Given the description of an element on the screen output the (x, y) to click on. 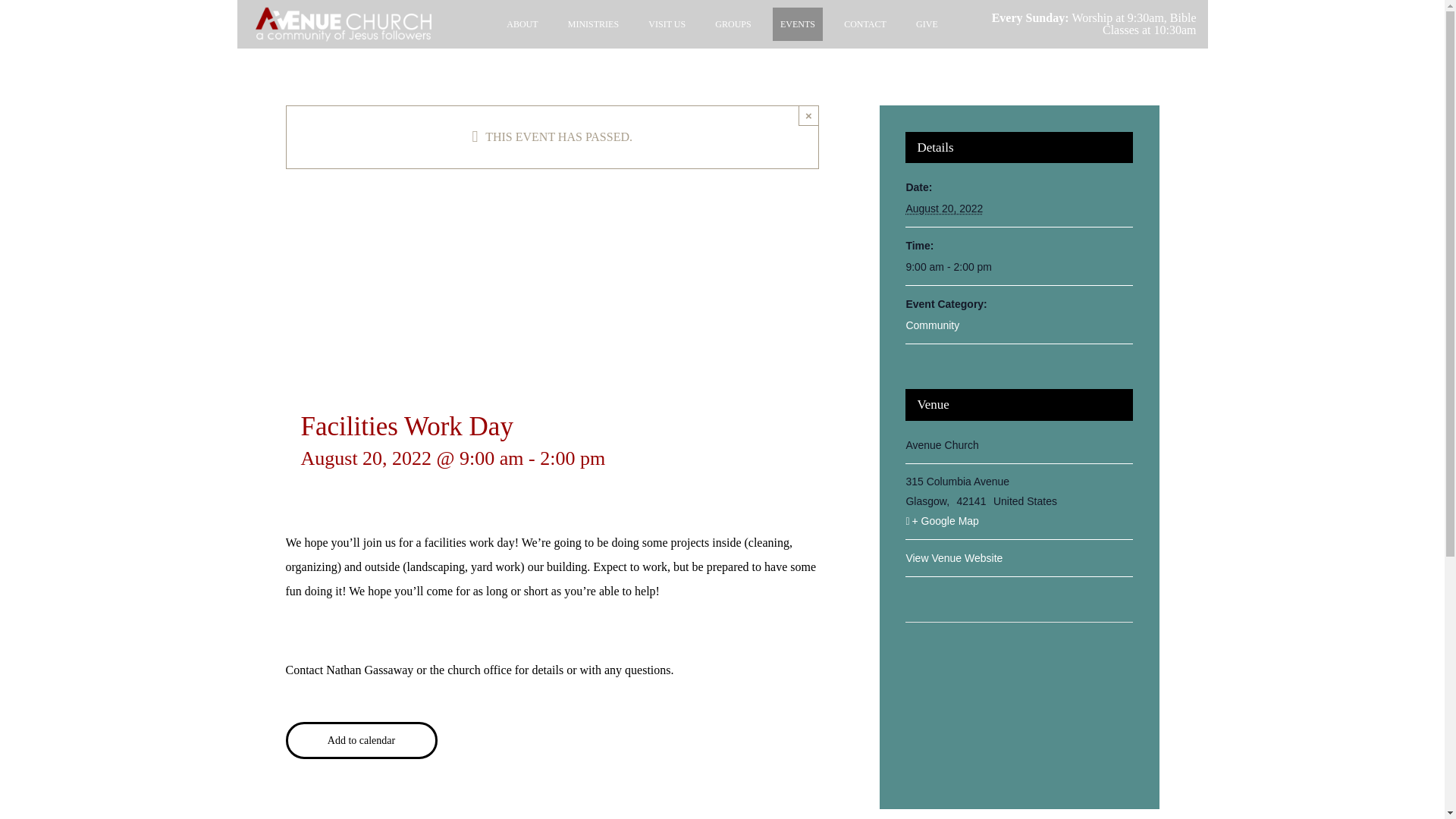
VISIT US (667, 23)
Add to calendar (360, 740)
ABOUT (521, 23)
EVENTS (797, 23)
View Venue Website (954, 558)
GROUPS (732, 23)
Community (932, 325)
Click to view a Google Map (1018, 521)
2022-08-20 (943, 208)
2022-08-20 (1018, 266)
MINISTRIES (593, 23)
GIVE (926, 23)
CONTACT (865, 23)
